Given the description of an element on the screen output the (x, y) to click on. 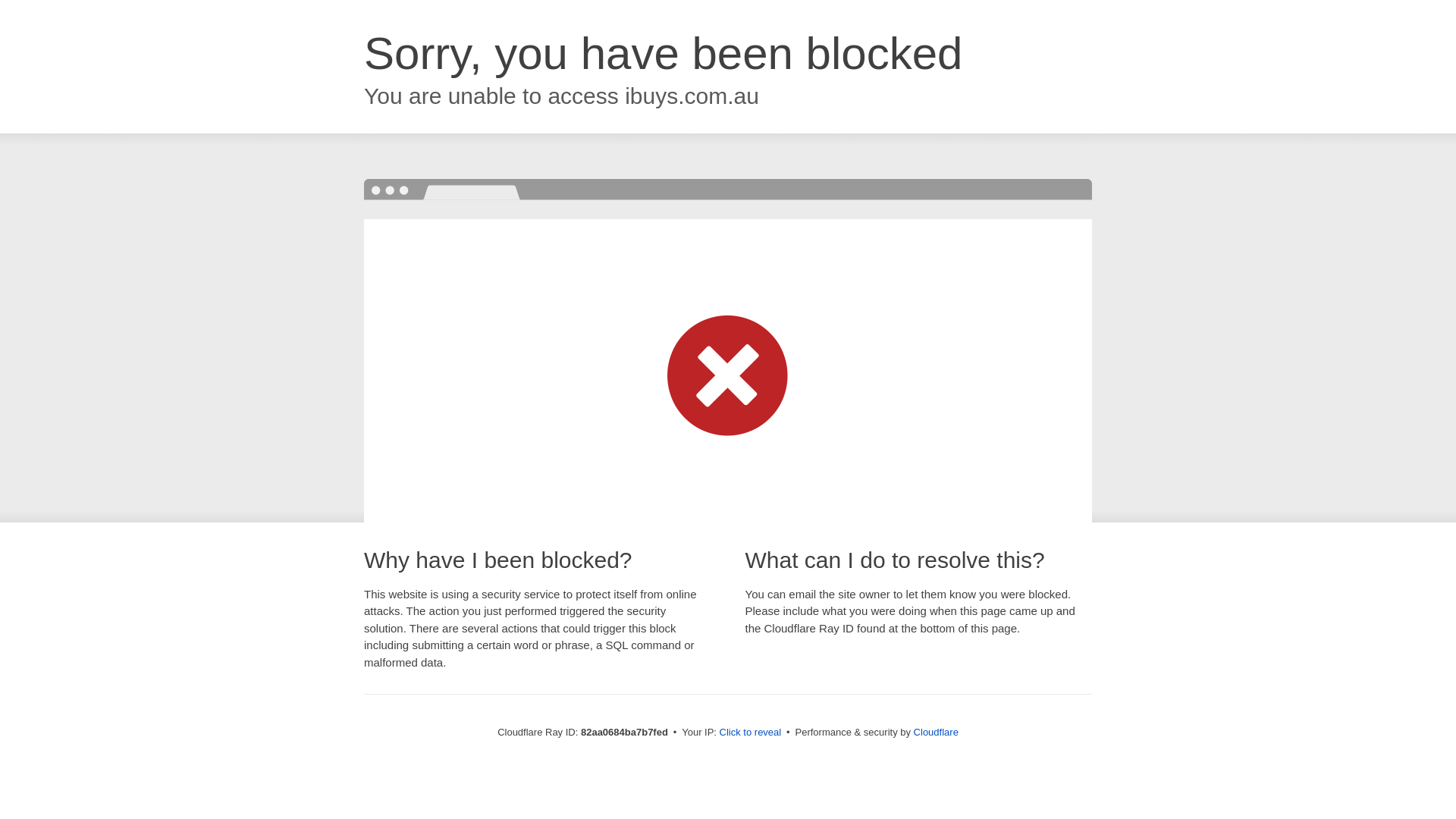
Click to reveal Element type: text (750, 732)
Cloudflare Element type: text (935, 731)
